Given the description of an element on the screen output the (x, y) to click on. 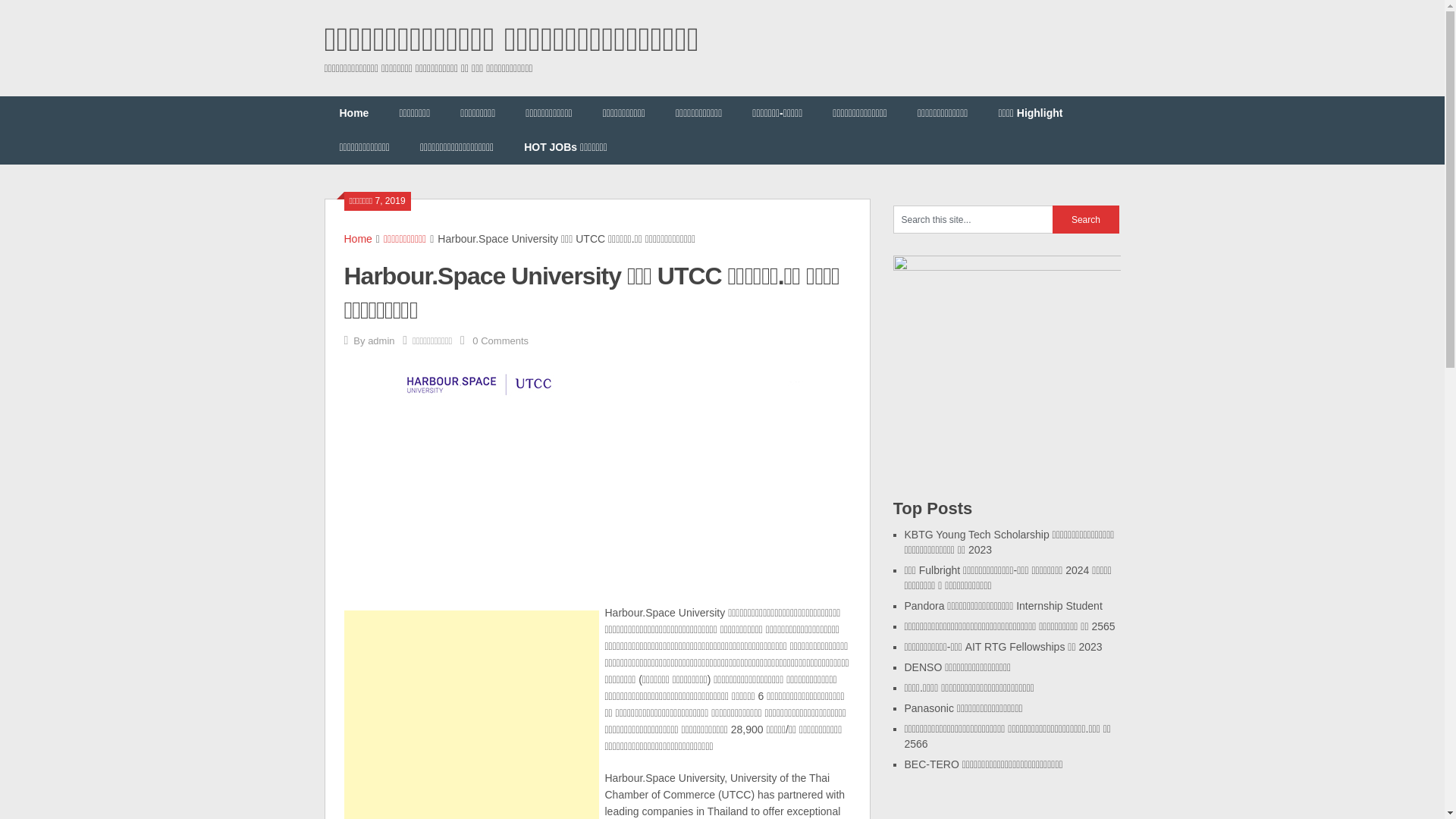
Search (1085, 219)
Search (1085, 219)
0 Comments (499, 340)
admin (381, 340)
Home (357, 238)
Advertisement (470, 714)
Home (354, 113)
Search this site... (972, 219)
